Given the description of an element on the screen output the (x, y) to click on. 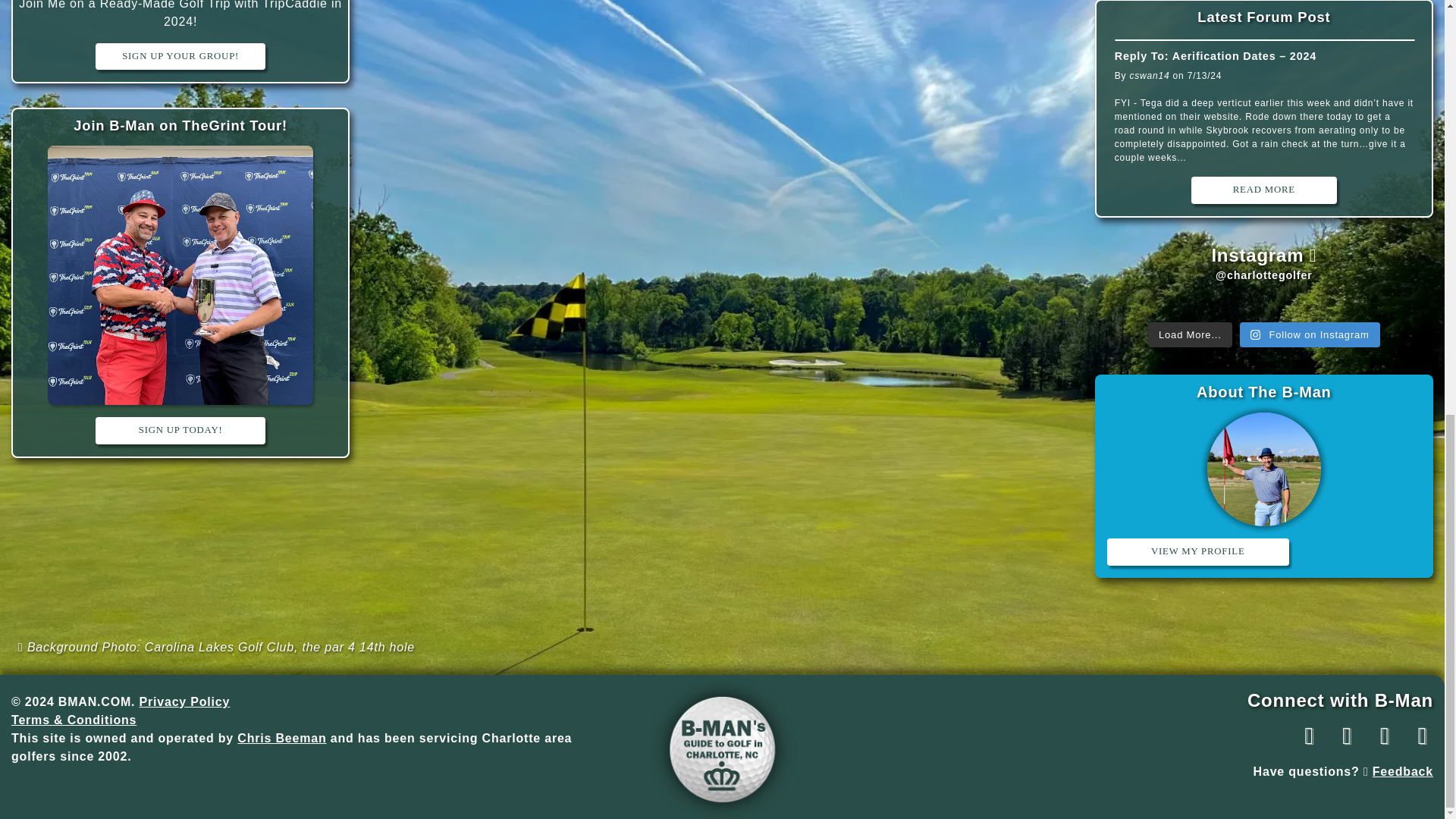
Join B-Man on TheGrint Tour! (180, 125)
SIGN UP YOUR GROUP! (180, 56)
Join B-Man on TheGrint Tour (180, 125)
Join B-Man on TheGrint Tour (180, 273)
SIGN UP TODAY! (180, 429)
